Given the description of an element on the screen output the (x, y) to click on. 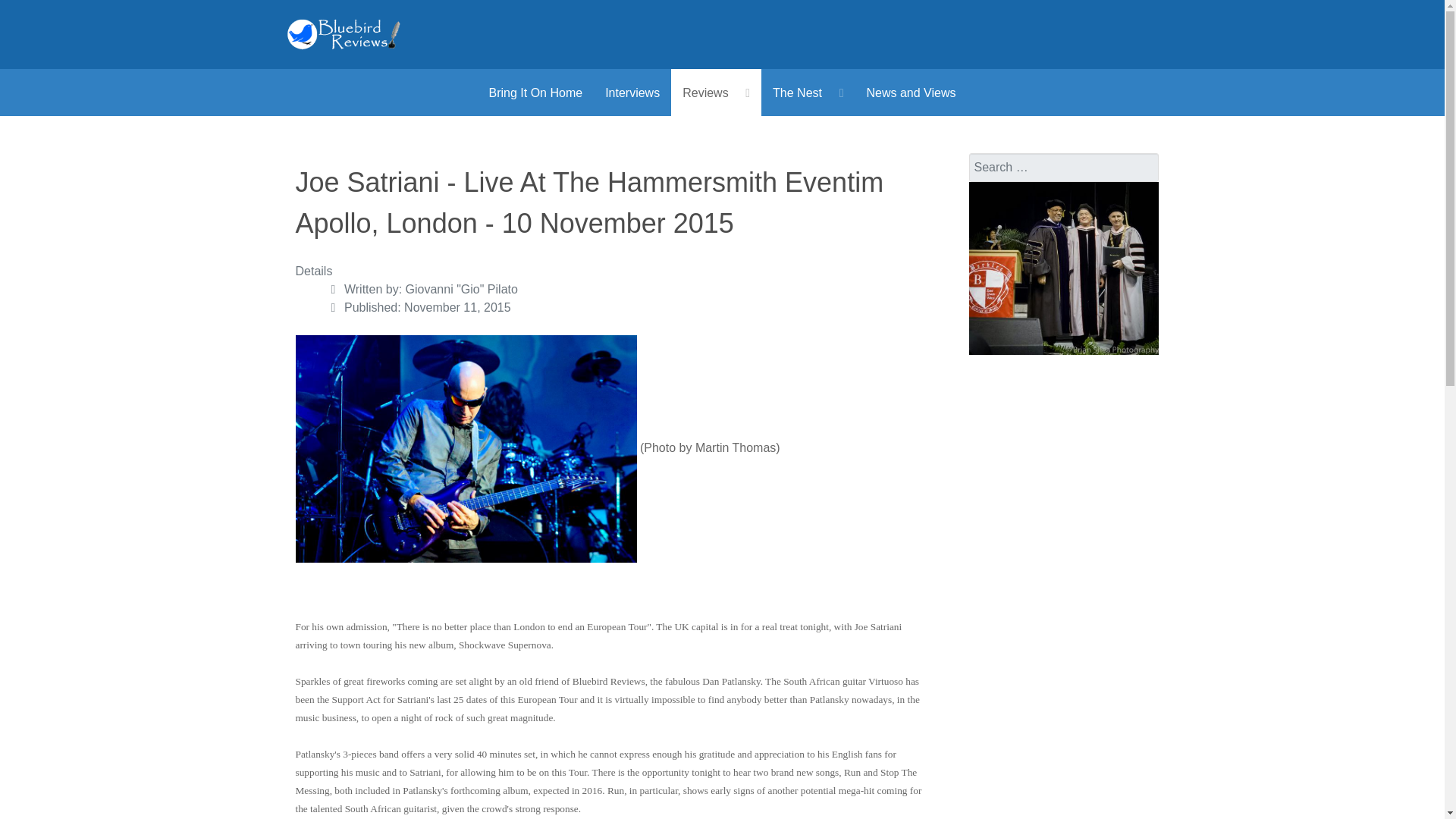
Bring It On Home (535, 92)
Interviews (632, 92)
The Nest (807, 92)
News and Views (910, 92)
Bluebird Reviews (343, 33)
Reviews (716, 92)
Bring It On Home (535, 92)
